Given the description of an element on the screen output the (x, y) to click on. 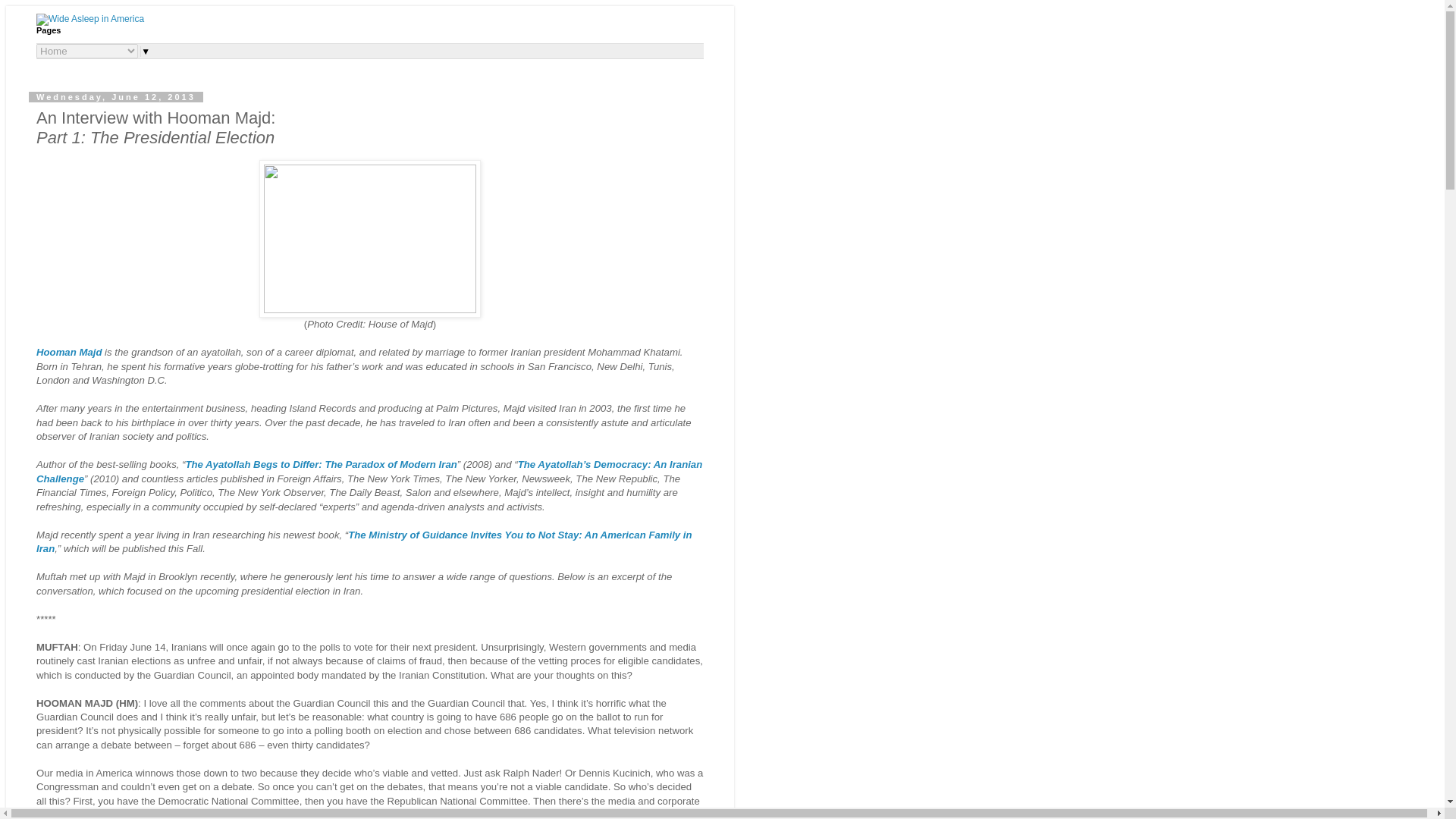
Hooman Majd (68, 351)
The Ayatollah Begs to Differ: The Paradox of Modern Iran (320, 464)
